Given the description of an element on the screen output the (x, y) to click on. 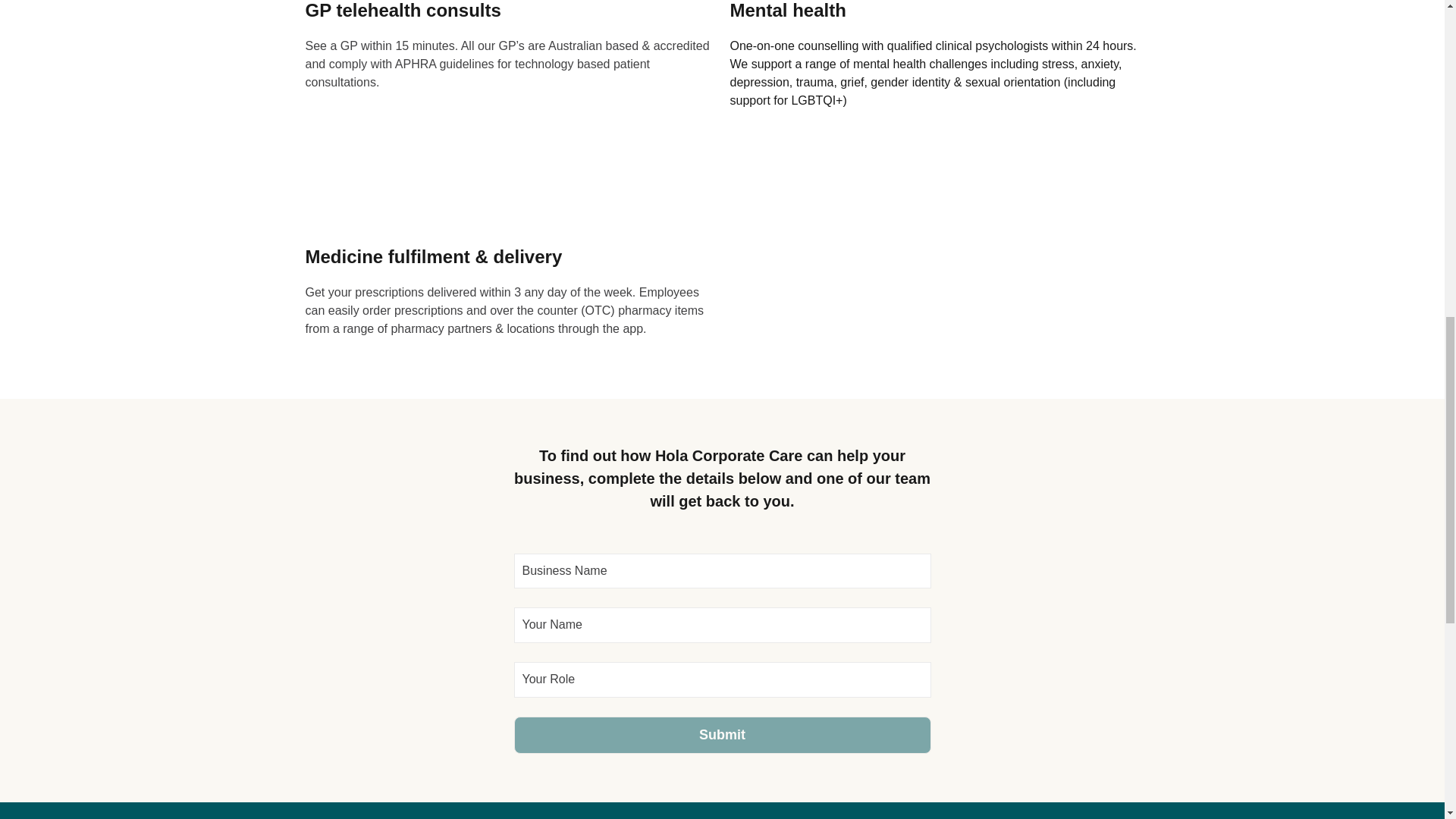
Submit (722, 734)
